Given the description of an element on the screen output the (x, y) to click on. 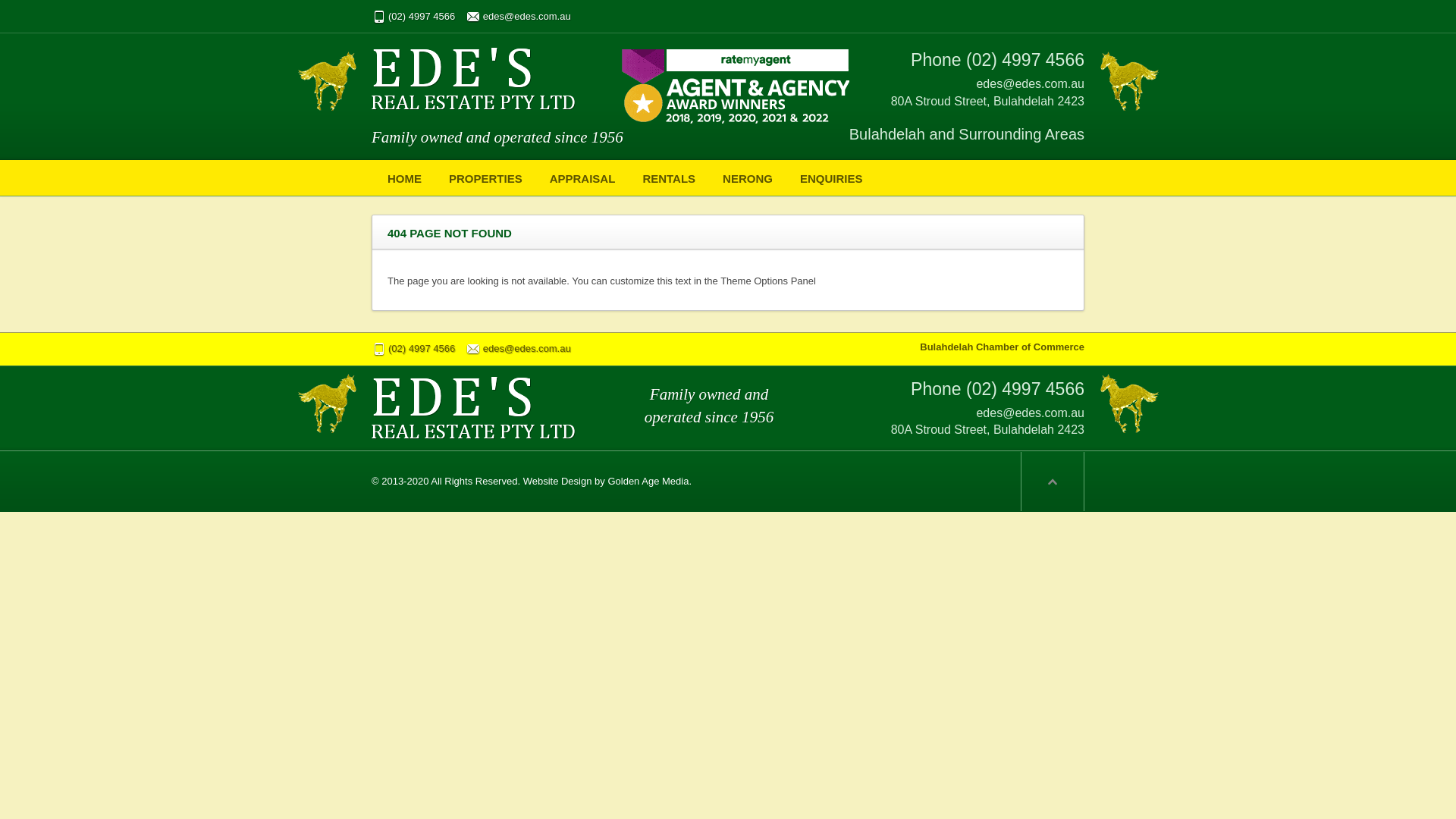
edes@edes.com.au Element type: text (518, 348)
APPRAISAL Element type: text (582, 177)
Website Design Element type: text (557, 480)
ENQUIRIES Element type: text (831, 177)
HOME Element type: text (404, 177)
NERONG Element type: text (747, 177)
Scroll to top Element type: text (1052, 481)
Bulahdelah Chamber of Commerce Element type: text (1001, 346)
RENTALS Element type: text (668, 177)
Golden Age Media Element type: text (647, 480)
PROPERTIES Element type: text (485, 177)
Phone (02) 4997 4566 Element type: text (997, 59)
edes@edes.com.au Element type: text (518, 16)
